Given the description of an element on the screen output the (x, y) to click on. 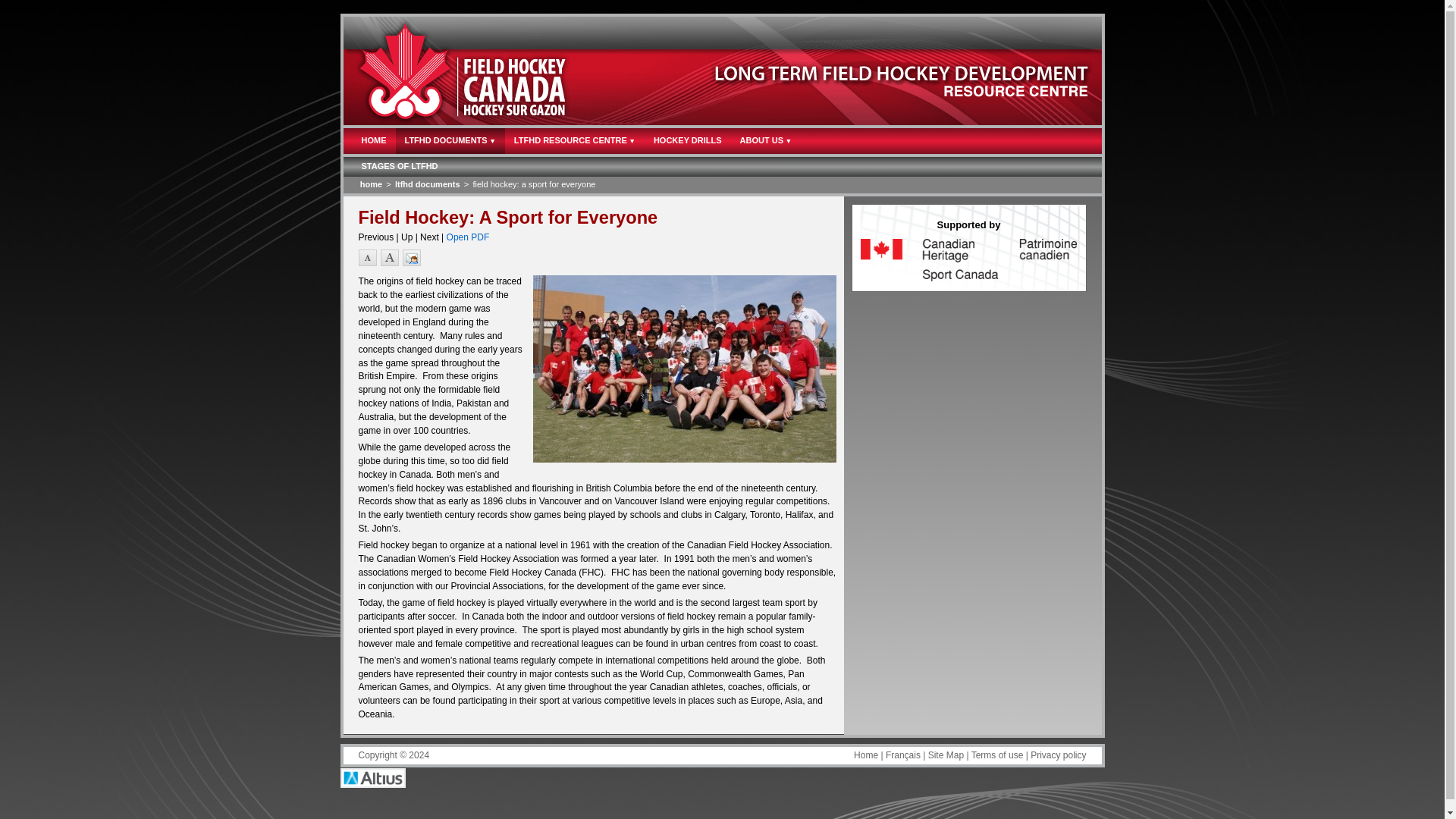
Home (865, 754)
Privacy policy (1058, 754)
Terms of use (997, 754)
Open PDF (467, 236)
LTFHD RESOURCE CENTRE (575, 140)
Home (370, 184)
Privacy policy (1058, 754)
ltfhd documents (427, 184)
Field Hockey Canada (479, 71)
home (370, 184)
LTFHD Documents (427, 184)
Email to a friend (410, 257)
HOME (373, 140)
